Given the description of an element on the screen output the (x, y) to click on. 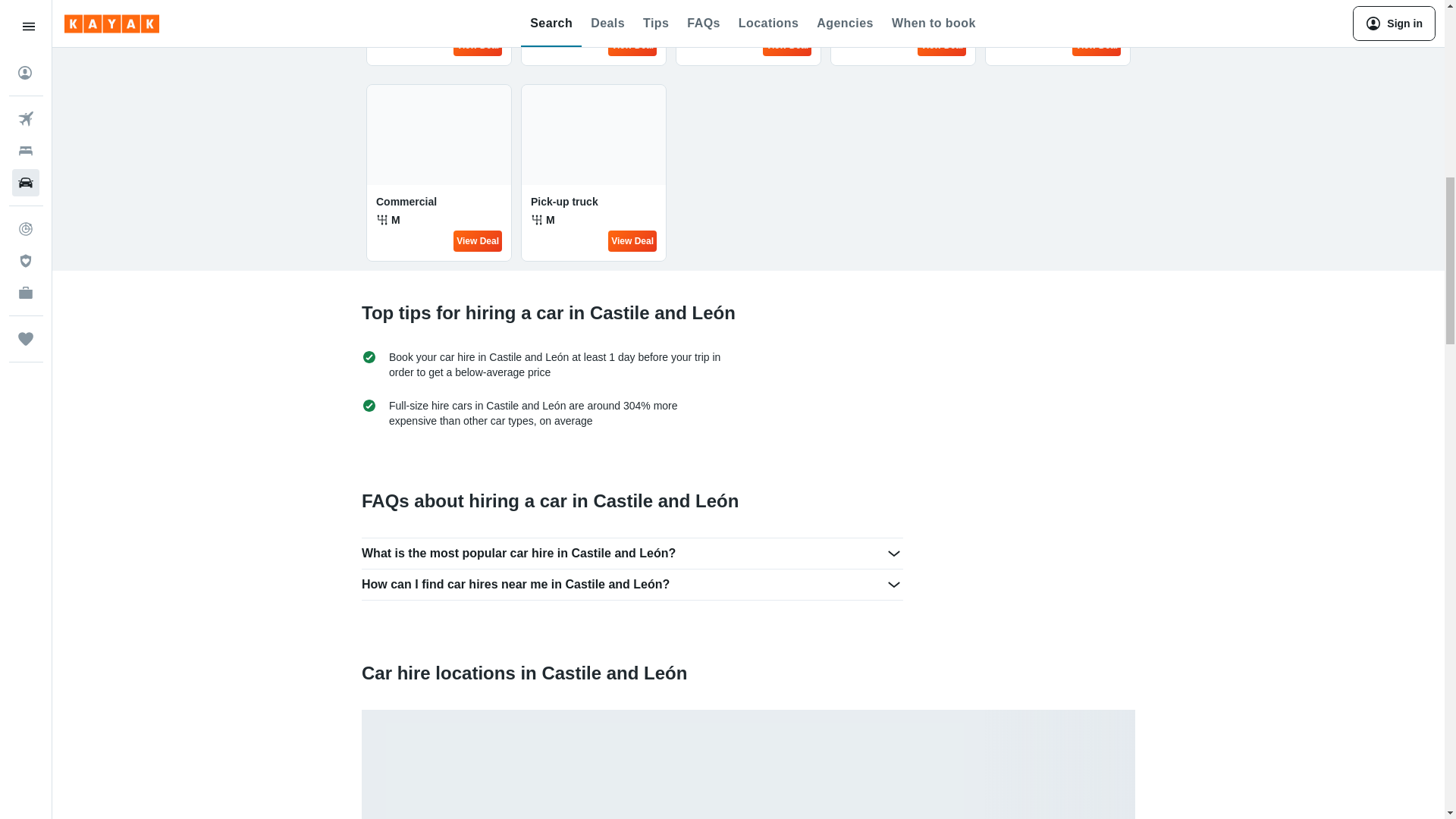
View Deal (477, 45)
View Deal (632, 45)
View Deal (786, 45)
View Deal (477, 240)
View Deal (941, 45)
View Deal (1096, 45)
View Deal (632, 240)
